Given the description of an element on the screen output the (x, y) to click on. 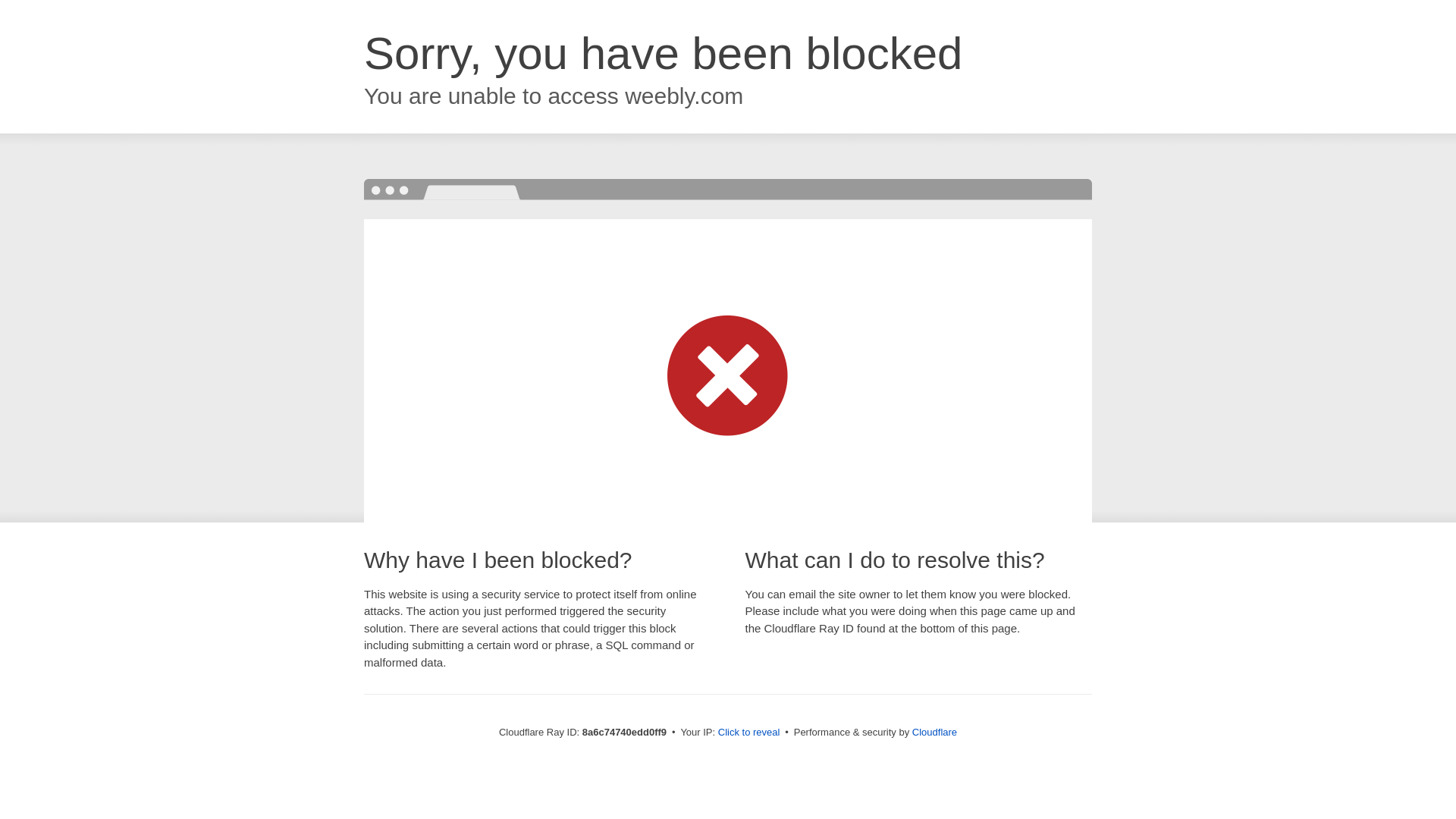
Cloudflare (934, 731)
Click to reveal (748, 732)
